Given the description of an element on the screen output the (x, y) to click on. 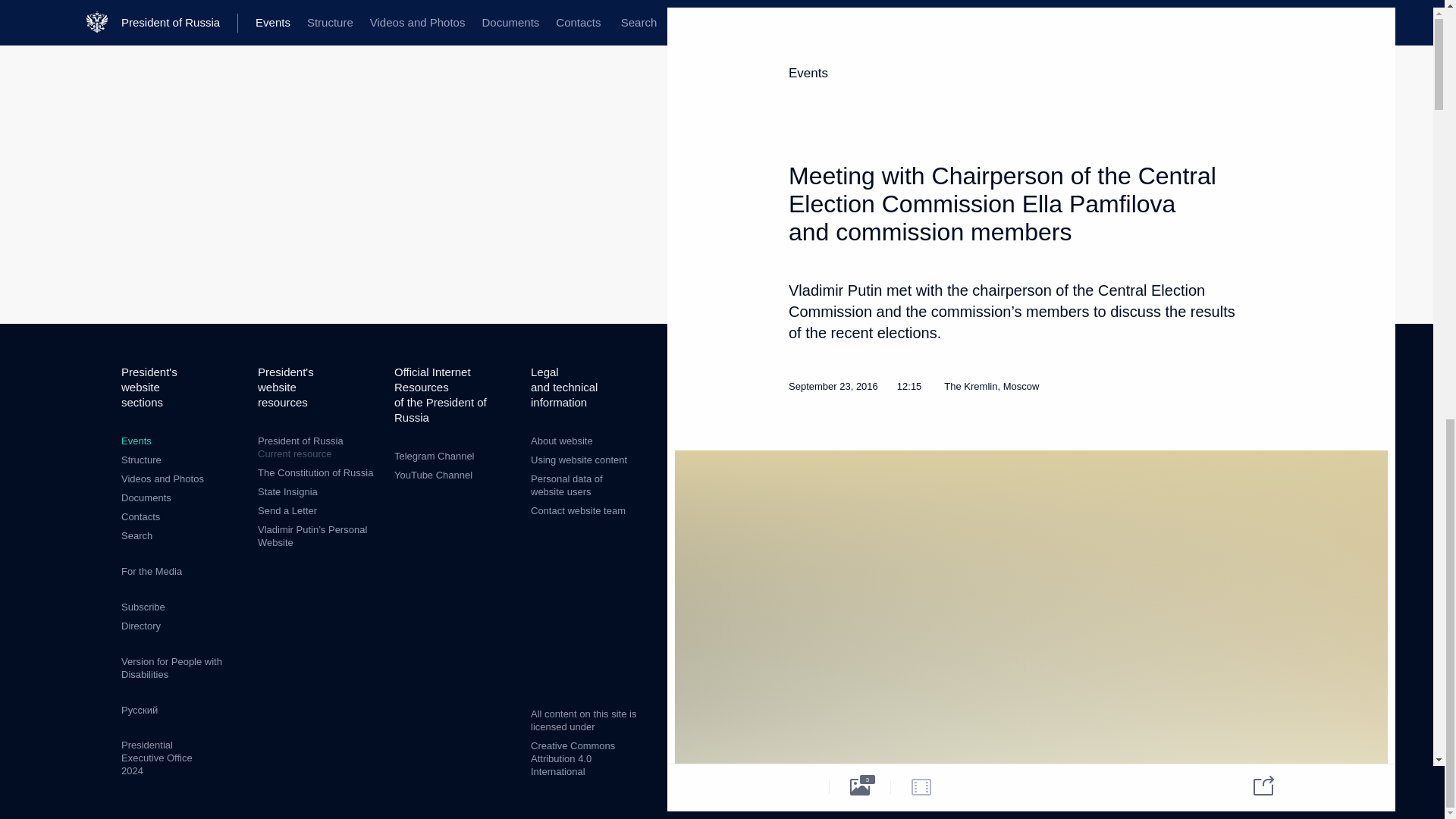
Videos and Photos (161, 478)
State Insignia (317, 447)
Contacts (287, 491)
Subscribe (140, 516)
Contact website team (142, 606)
Events (578, 510)
For the Media (135, 440)
Version for People with Disabilities (151, 571)
Send a Letter (171, 668)
